Given the description of an element on the screen output the (x, y) to click on. 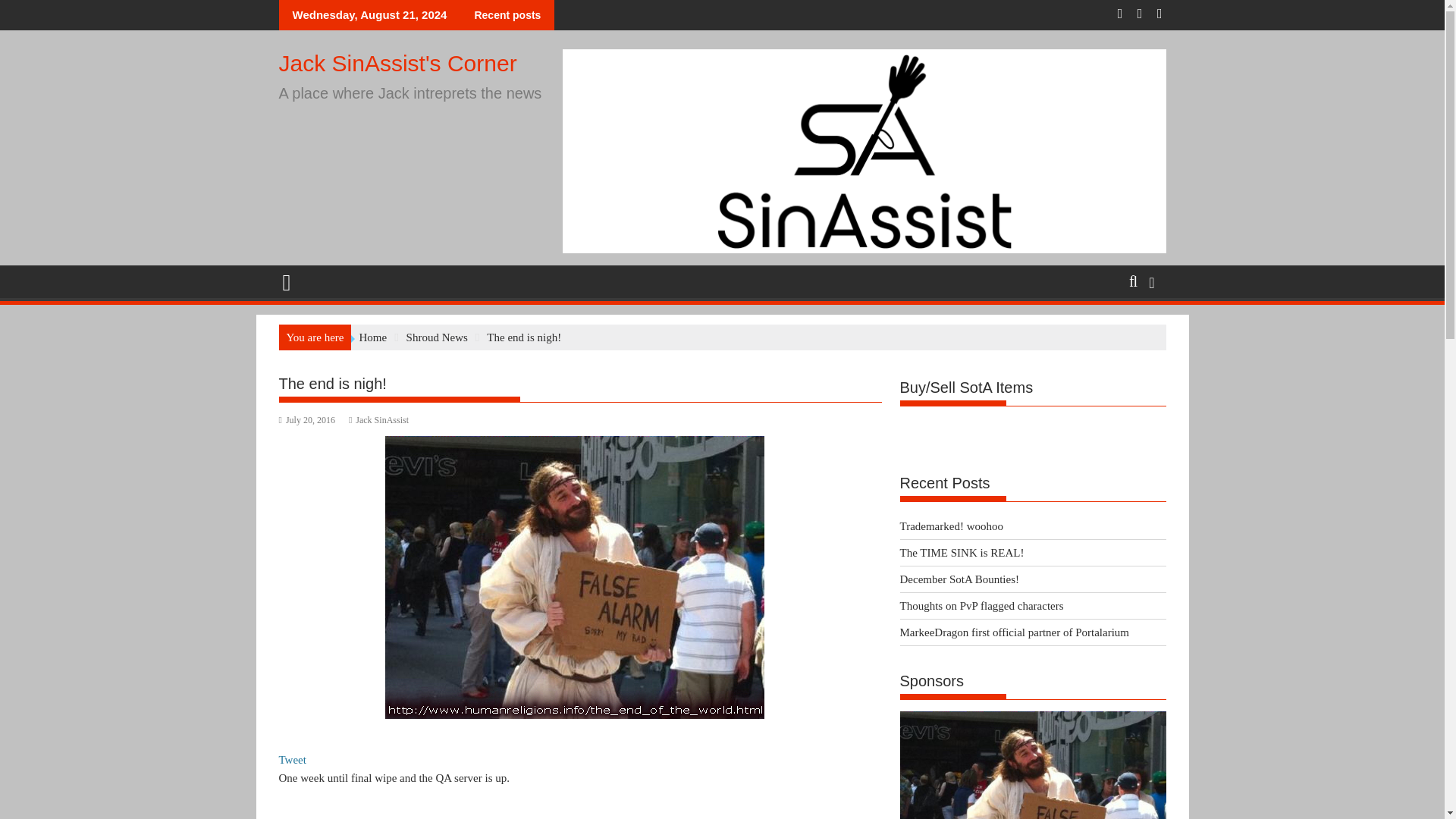
Tweet (292, 759)
Jack SinAssist's Corner (397, 63)
Shroud News (436, 337)
Home (372, 337)
Jack SinAssist's Corner (293, 280)
Jack SinAssist (379, 419)
July 20, 2016 (306, 419)
